Given the description of an element on the screen output the (x, y) to click on. 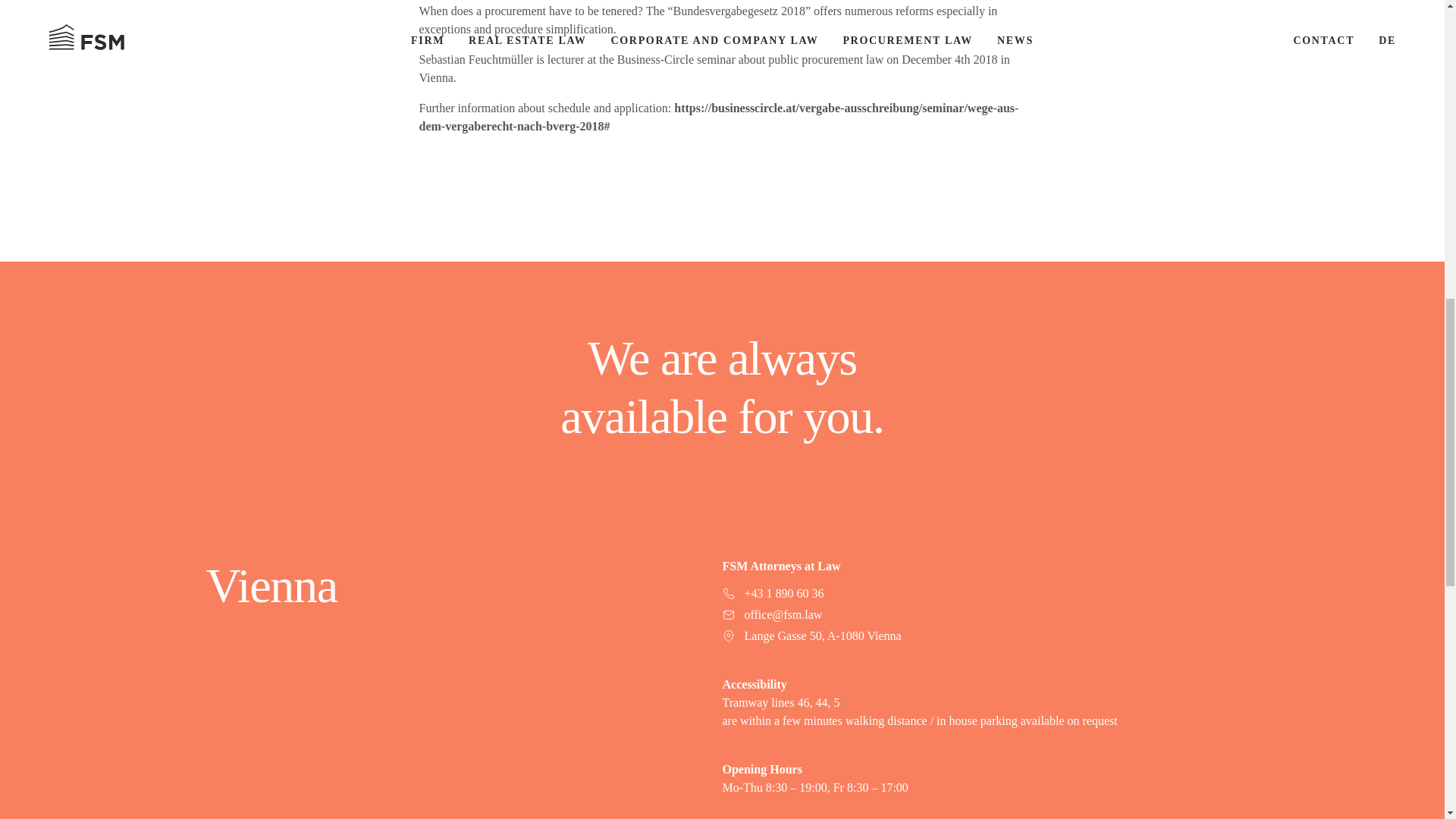
Lange Gasse 50, A-1080 Vienna (980, 636)
